Given the description of an element on the screen output the (x, y) to click on. 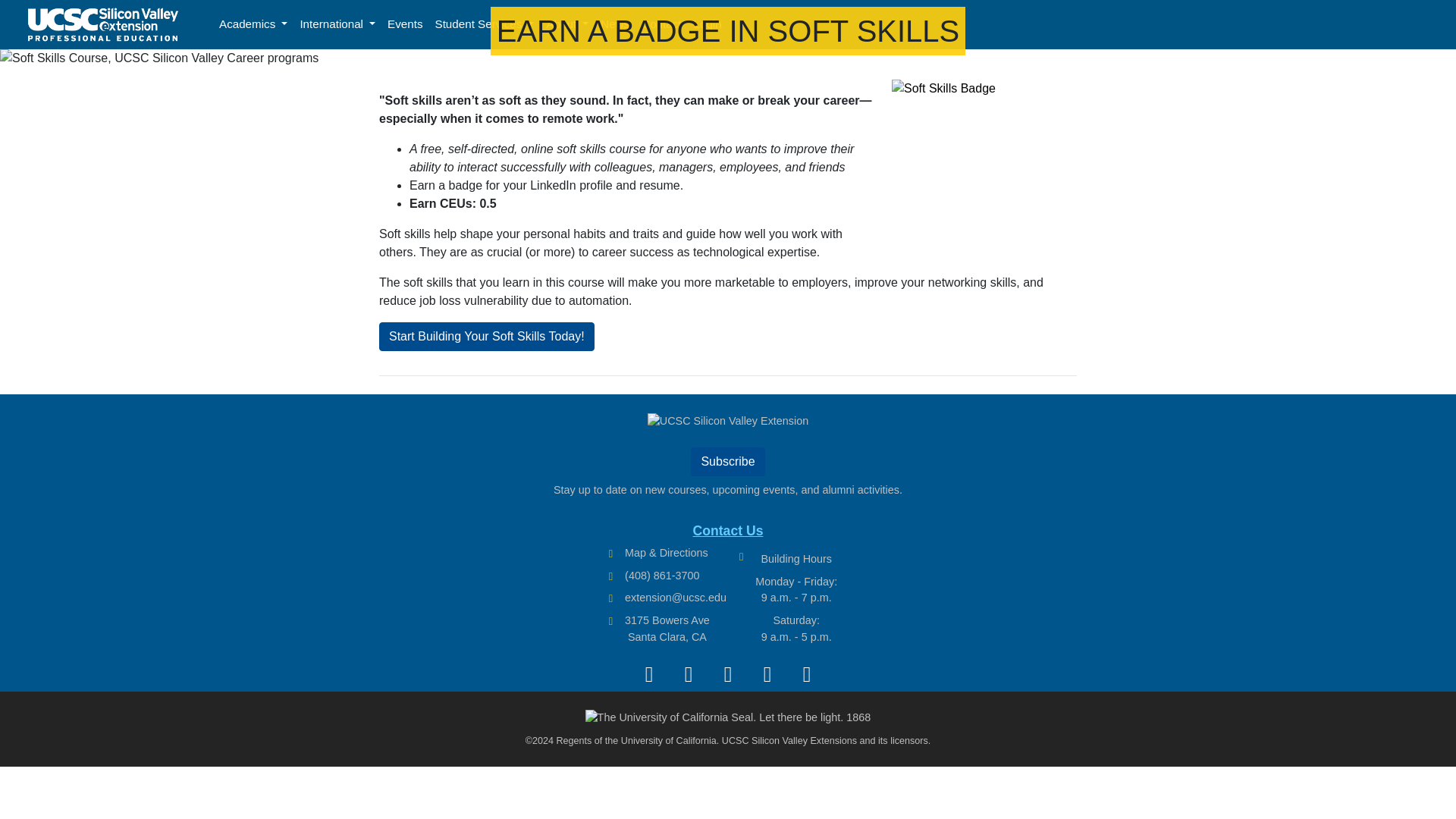
Student Services (484, 24)
Academics (253, 24)
UCSC Silicon Valley Extension - Your UC in Silicon Valley (103, 24)
Events (404, 24)
International (337, 24)
